Given the description of an element on the screen output the (x, y) to click on. 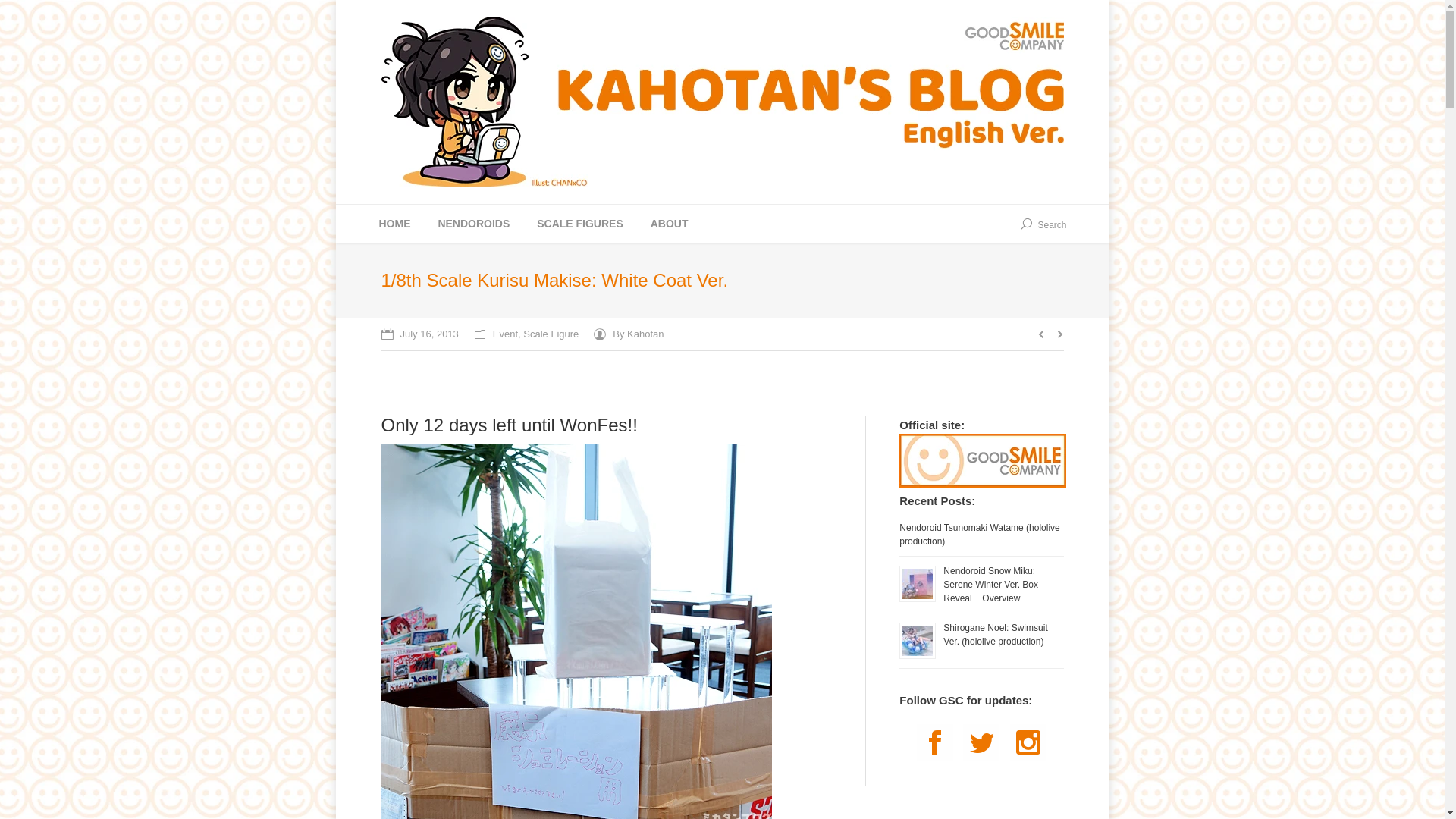
ABOUT (668, 223)
7:43 AM (419, 334)
Scale Figure (550, 333)
SCALE FIGURES (579, 223)
Go! (19, 13)
Search (1042, 225)
NENDOROIDS (473, 223)
Event (505, 333)
July 16, 2013 (419, 334)
By Kahotan (628, 334)
View all posts by Kahotan (722, 400)
HOME (628, 334)
001 (393, 223)
